Given the description of an element on the screen output the (x, y) to click on. 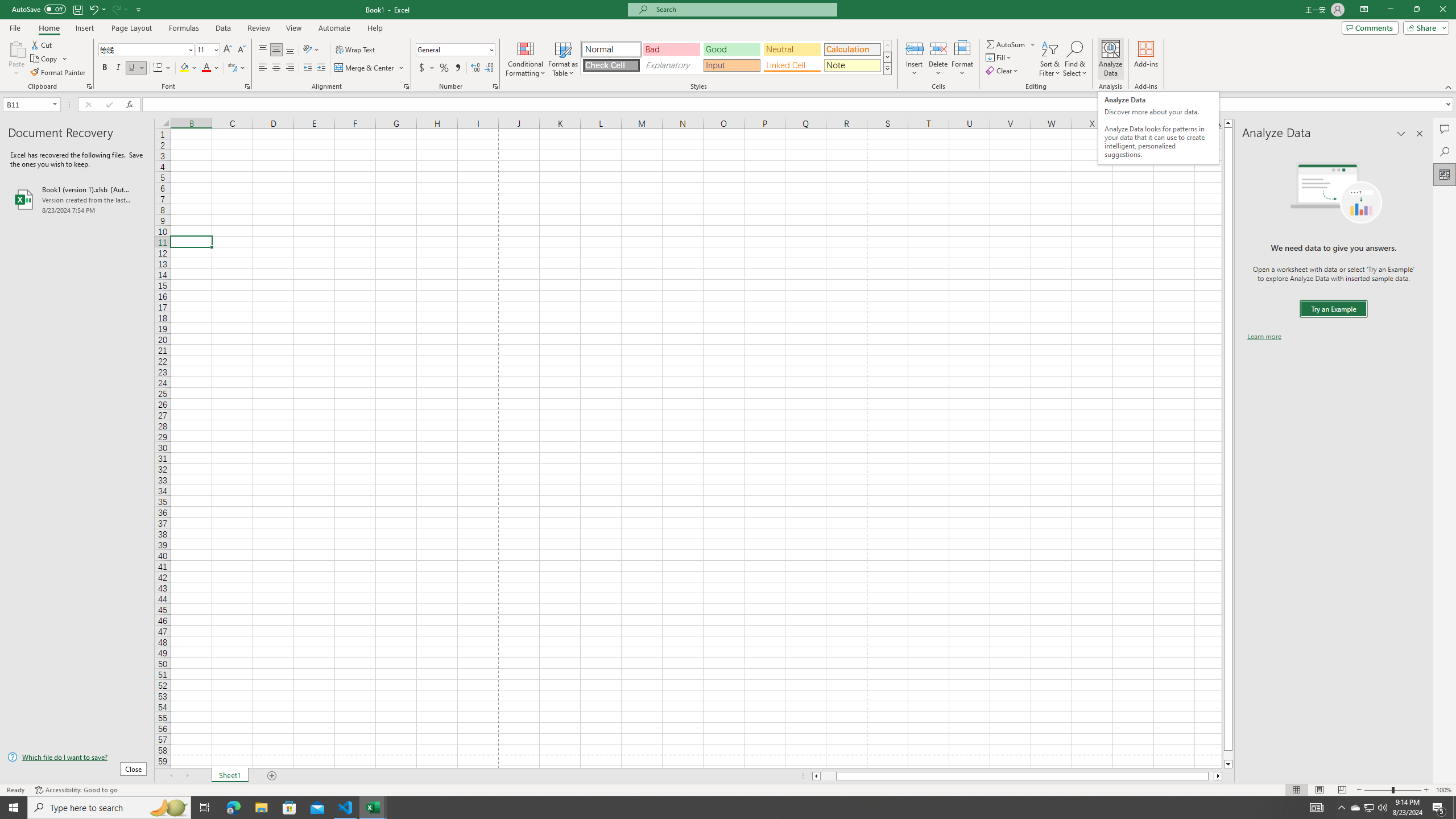
Name Box (27, 104)
Decrease Decimal (489, 67)
More Options (1033, 44)
Fill Color (188, 67)
Search (1444, 151)
Accounting Number Format (426, 67)
Share (1423, 27)
Which file do I want to save? (77, 757)
Fill (999, 56)
Copy (49, 58)
Class: NetUIImage (887, 68)
Cut (42, 44)
Increase Decimal (474, 67)
Sum (1006, 44)
Percent Style (443, 67)
